Given the description of an element on the screen output the (x, y) to click on. 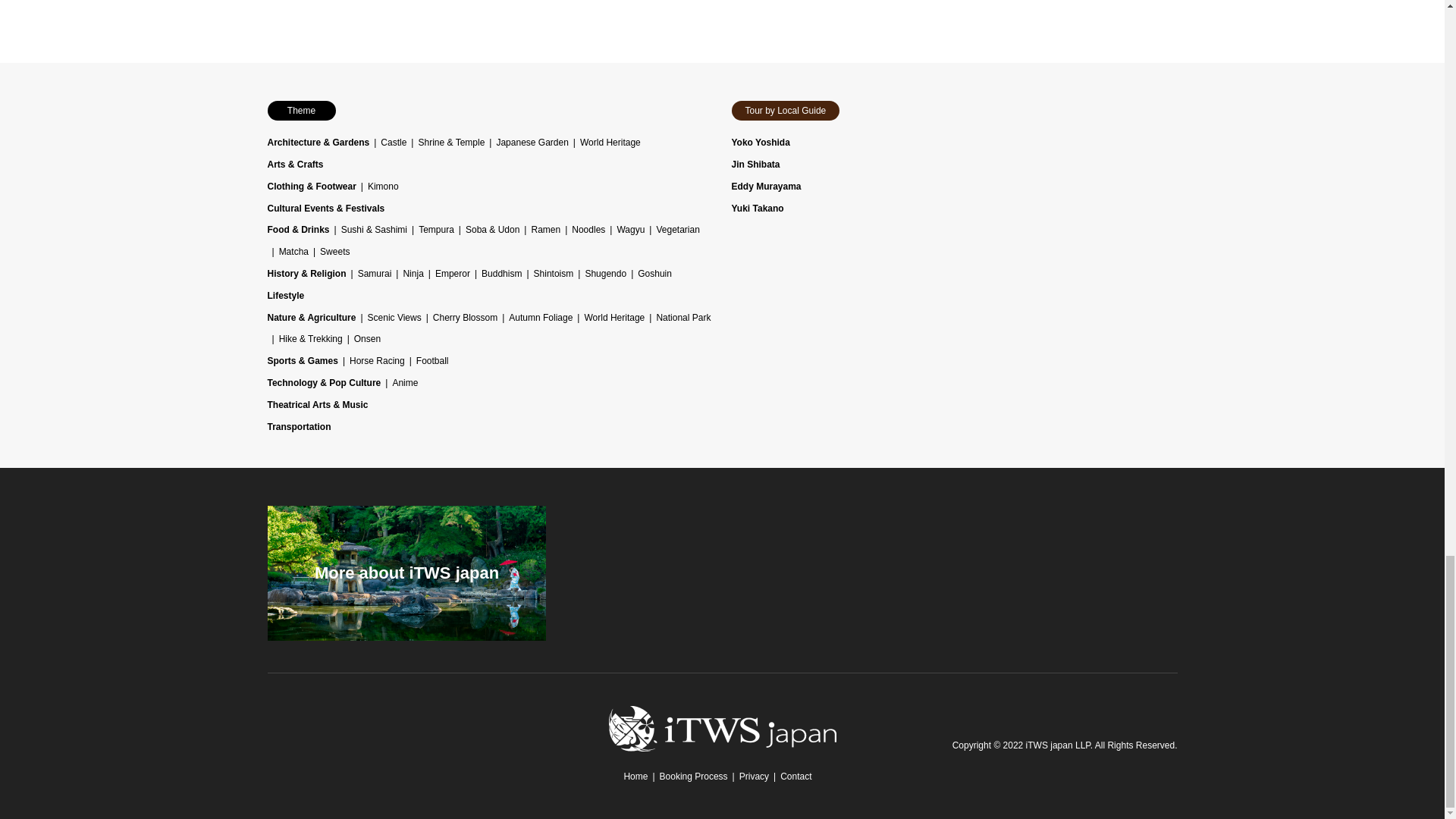
World Heritage (609, 142)
Shugendo (605, 273)
Shintoism (553, 273)
Scenic Views (395, 317)
Castle (393, 142)
Samurai (374, 273)
Noodles (588, 229)
Wagyu (630, 229)
Ninja (413, 273)
Goshuin (654, 273)
